Given the description of an element on the screen output the (x, y) to click on. 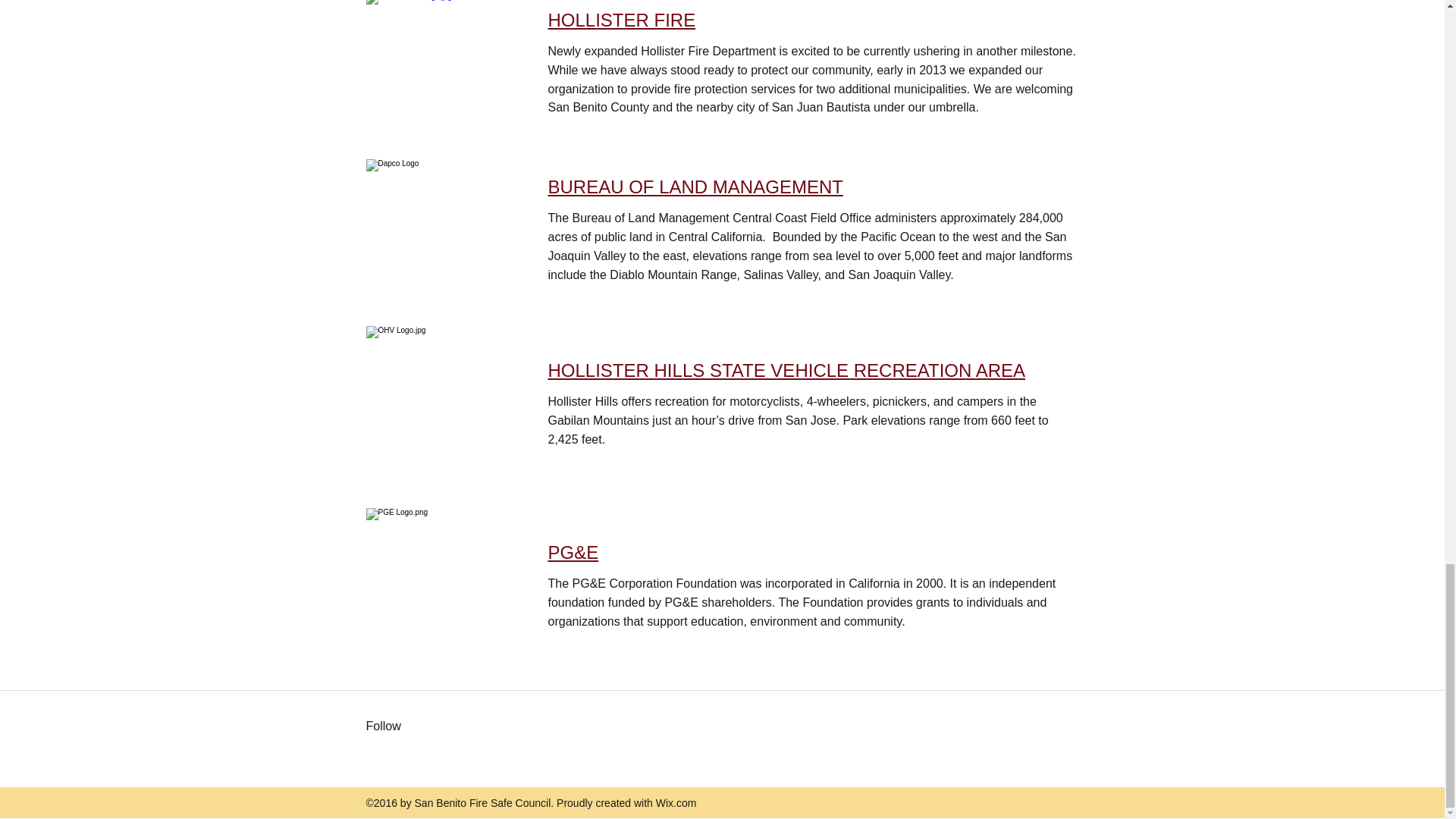
BUREAU OF LAND MANAGEMENT (695, 186)
HOLLISTER FIRE (621, 19)
HOLLISTER HILLS STATE VEHICLE RECREATION AREA (786, 370)
